Given the description of an element on the screen output the (x, y) to click on. 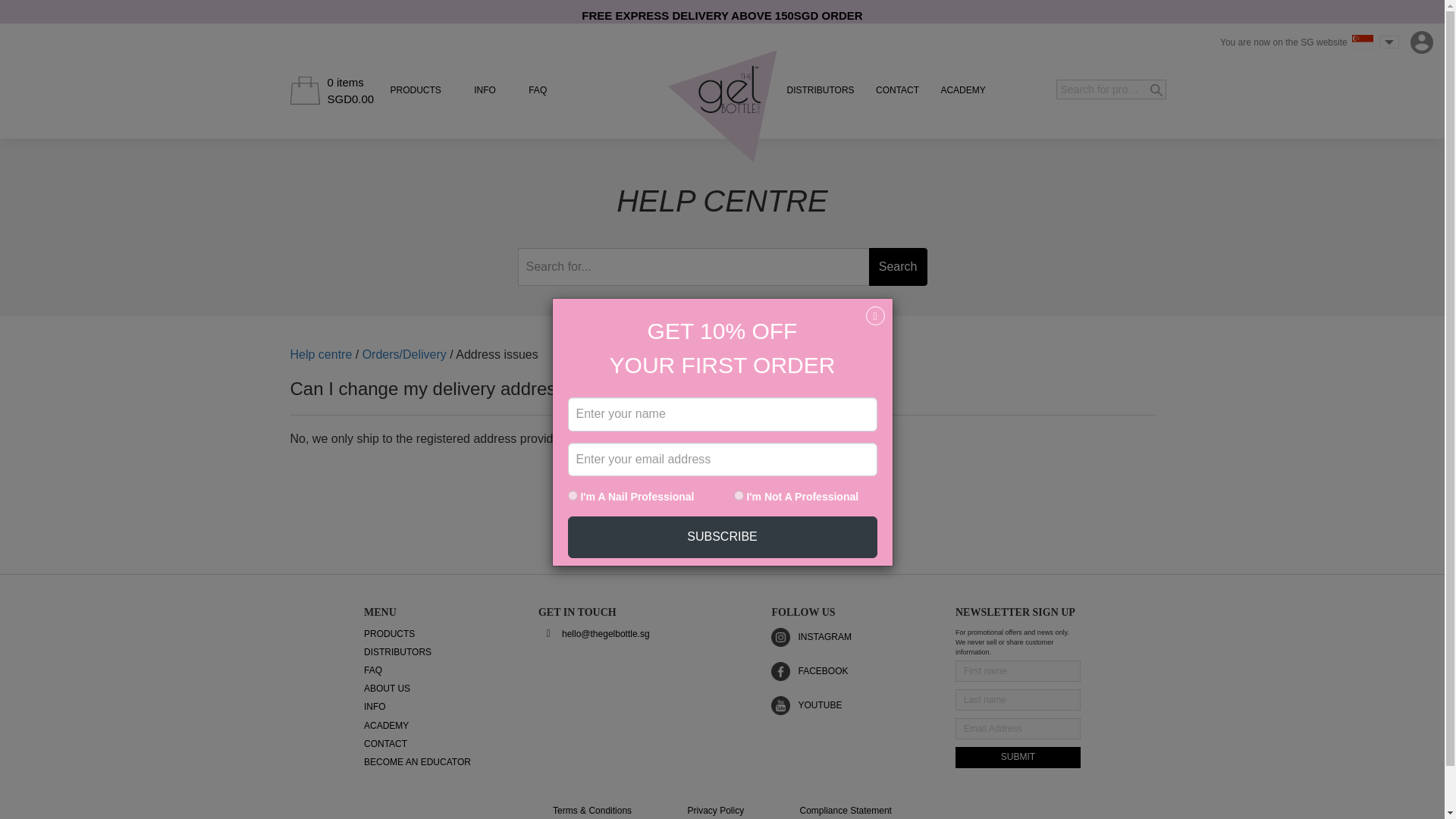
Distributors (820, 90)
My account (1421, 42)
Contact (897, 90)
Products (415, 90)
Info (485, 90)
FAQ (537, 90)
Search (898, 266)
no (738, 495)
PRODUCTS (415, 90)
ACADEMY (962, 90)
INFO (485, 90)
Academy (962, 90)
DISTRIBUTORS (820, 90)
FAQ (537, 90)
CONTACT (897, 90)
